Given the description of an element on the screen output the (x, y) to click on. 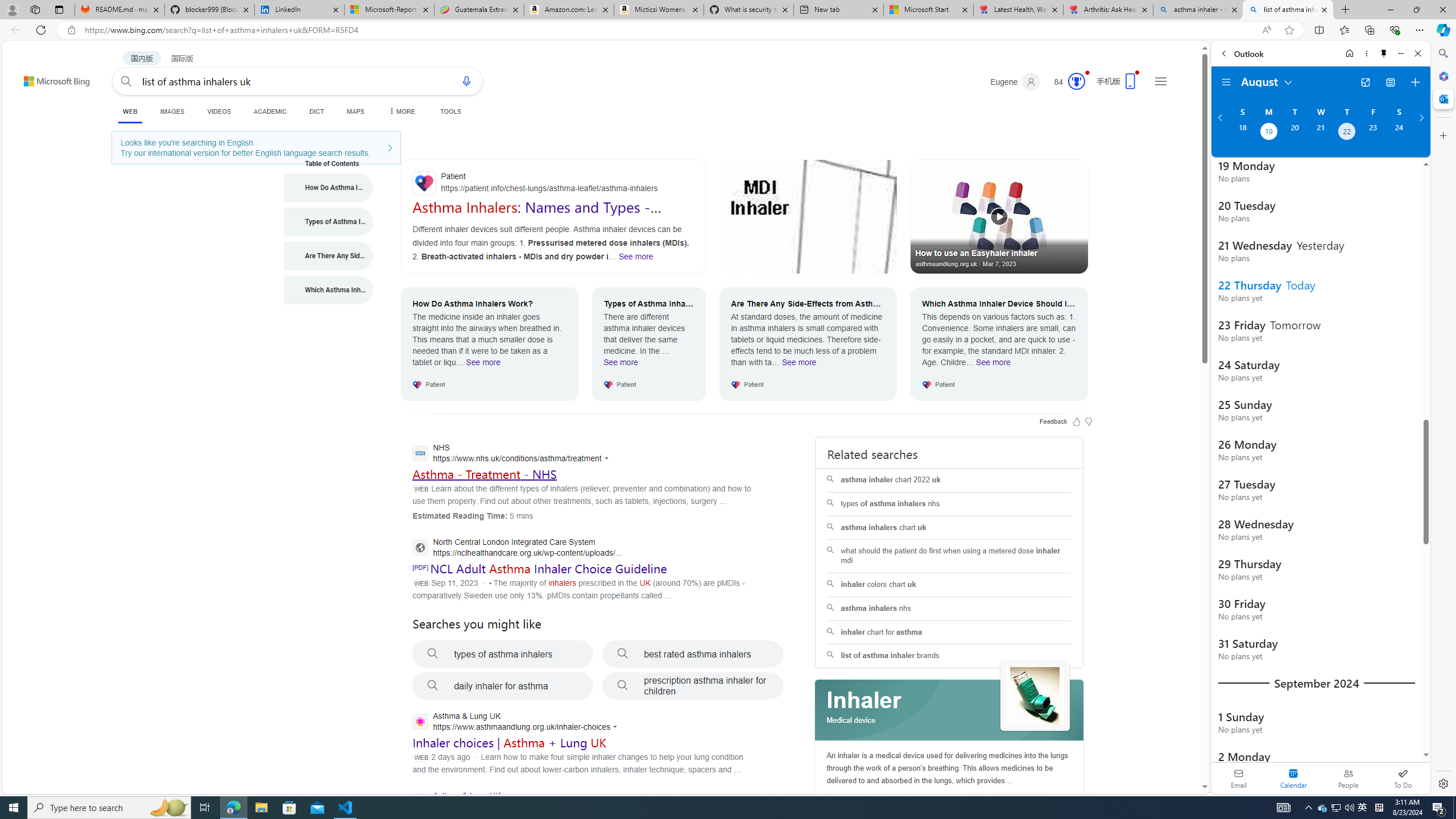
inhaler chart for asthma (949, 632)
People (1347, 777)
How to use an Easyhaler inhaler (999, 216)
See more images of Inhaler (1035, 697)
MORE (400, 111)
